Given the description of an element on the screen output the (x, y) to click on. 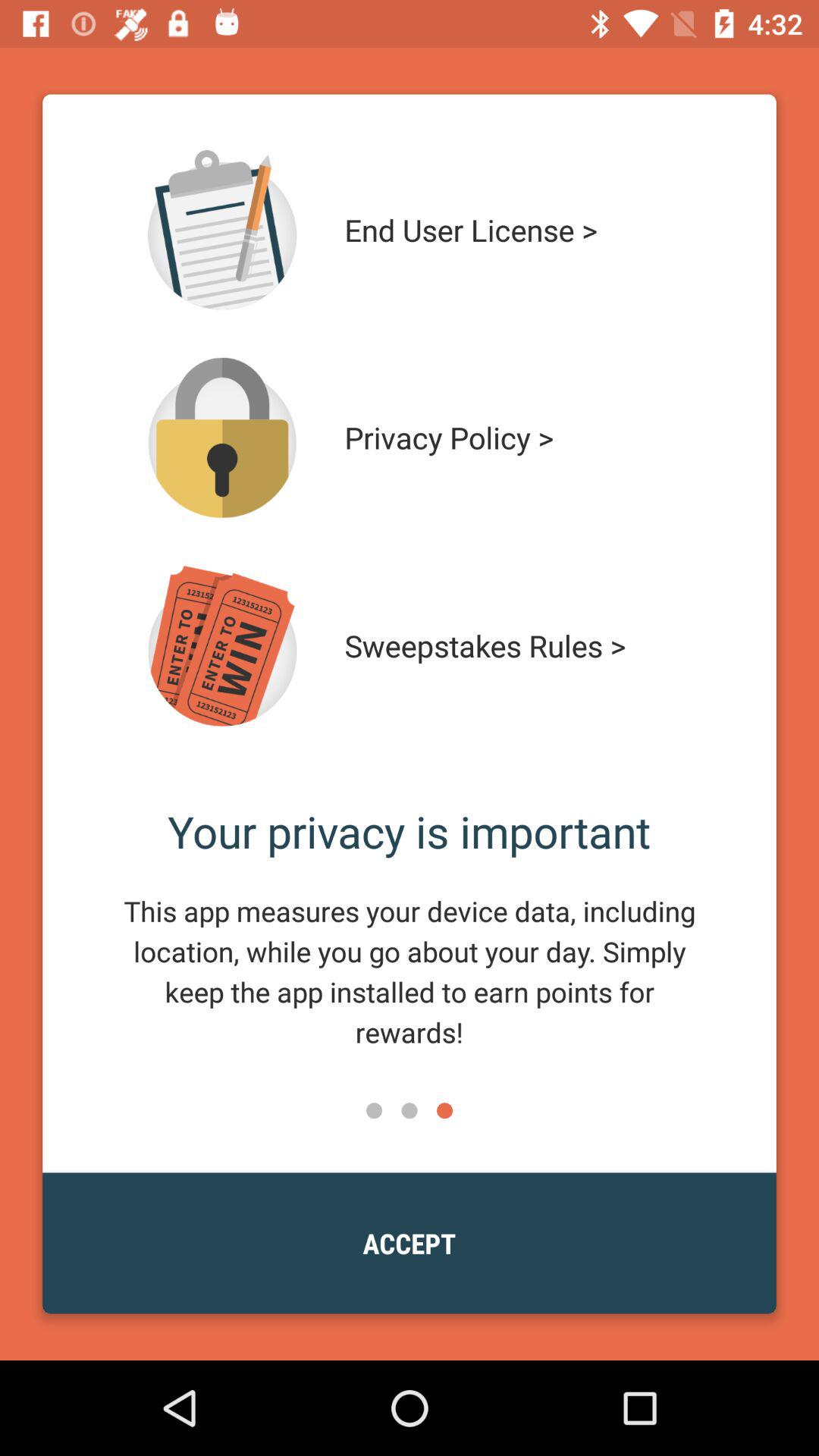
tap the item below the privacy policy > icon (514, 646)
